Given the description of an element on the screen output the (x, y) to click on. 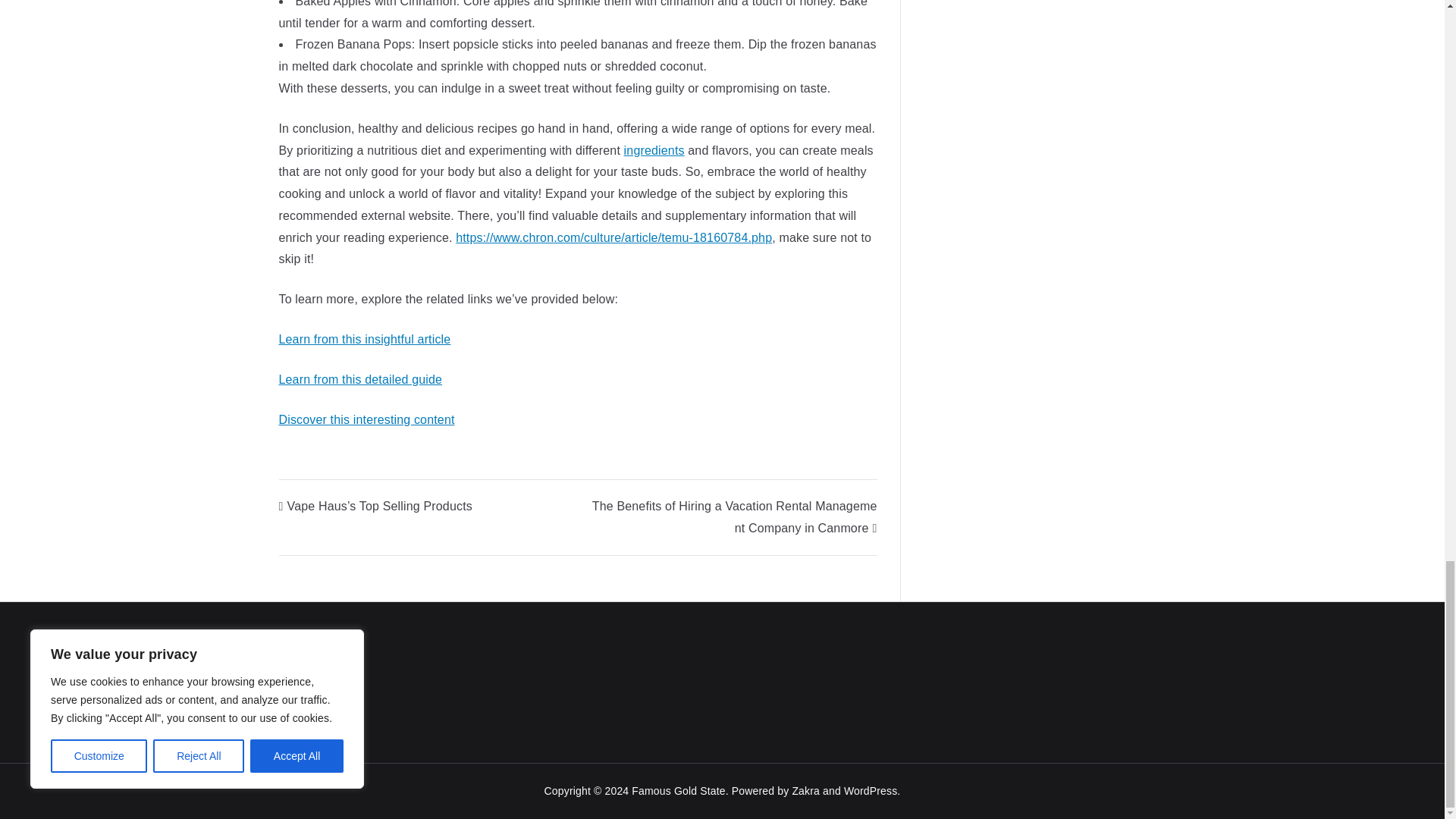
Learn from this insightful article (365, 338)
WordPress (870, 790)
ingredients (654, 150)
Learn from this detailed guide (360, 379)
Zakra (805, 790)
Famous Gold State (678, 790)
Discover this interesting content (366, 419)
